Given the description of an element on the screen output the (x, y) to click on. 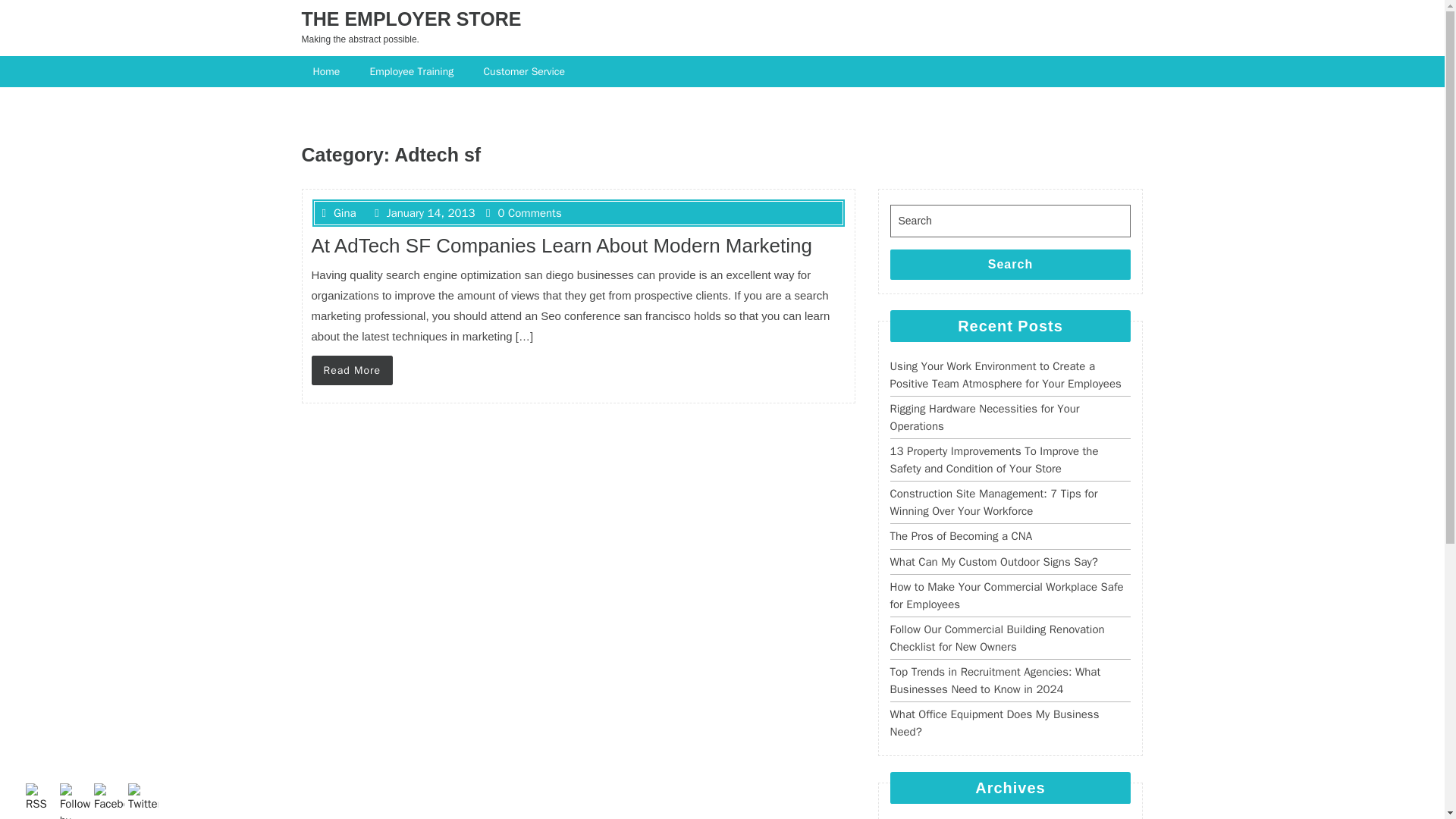
Employee Training (413, 71)
RSS (41, 797)
0 Comments (524, 213)
Gina (338, 213)
Search (1010, 264)
THE EMPLOYER STORE (411, 18)
Read More (352, 369)
